Given the description of an element on the screen output the (x, y) to click on. 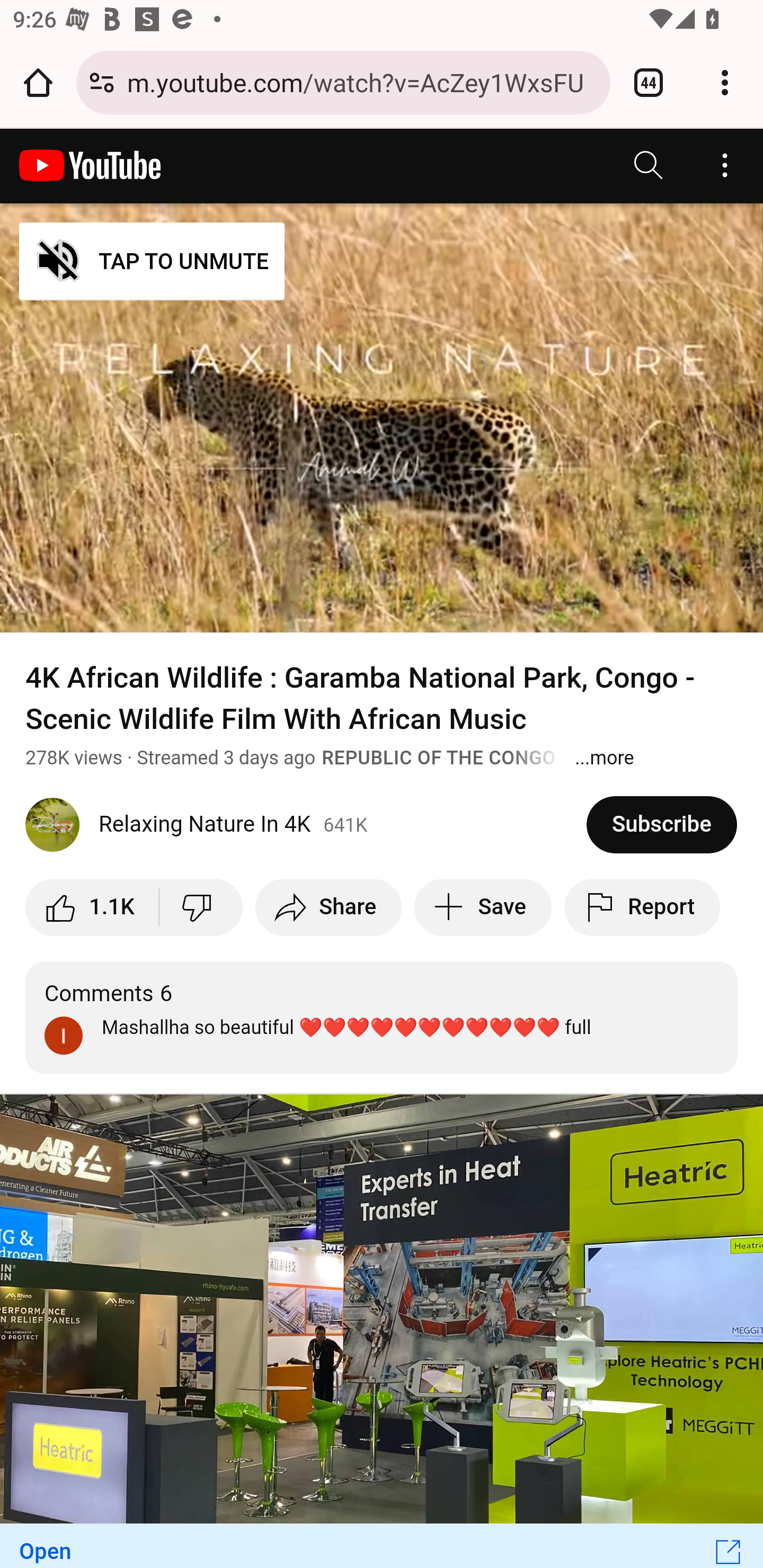
Open the home page (38, 82)
Connection is secure (101, 82)
Switch or close tabs (648, 82)
Customize and control Google Chrome (724, 82)
m.youtube.com/watch?v=AcZey1WxsFU (362, 82)
YouTube (89, 165)
Search YouTube (648, 165)
Account (724, 165)
TAP TO UNMUTE (152, 261)
Show more (603, 757)
Subscribe to Relaxing Nature In 4K. (661, 824)
Relaxing Nature In 4K (305, 824)
like this video along with 1,168 other people (92, 907)
Dislike this video (200, 907)
Share (328, 907)
Save to playlist (483, 907)
Report (642, 907)
Comments (381, 1017)
Open (381, 1545)
